Given the description of an element on the screen output the (x, y) to click on. 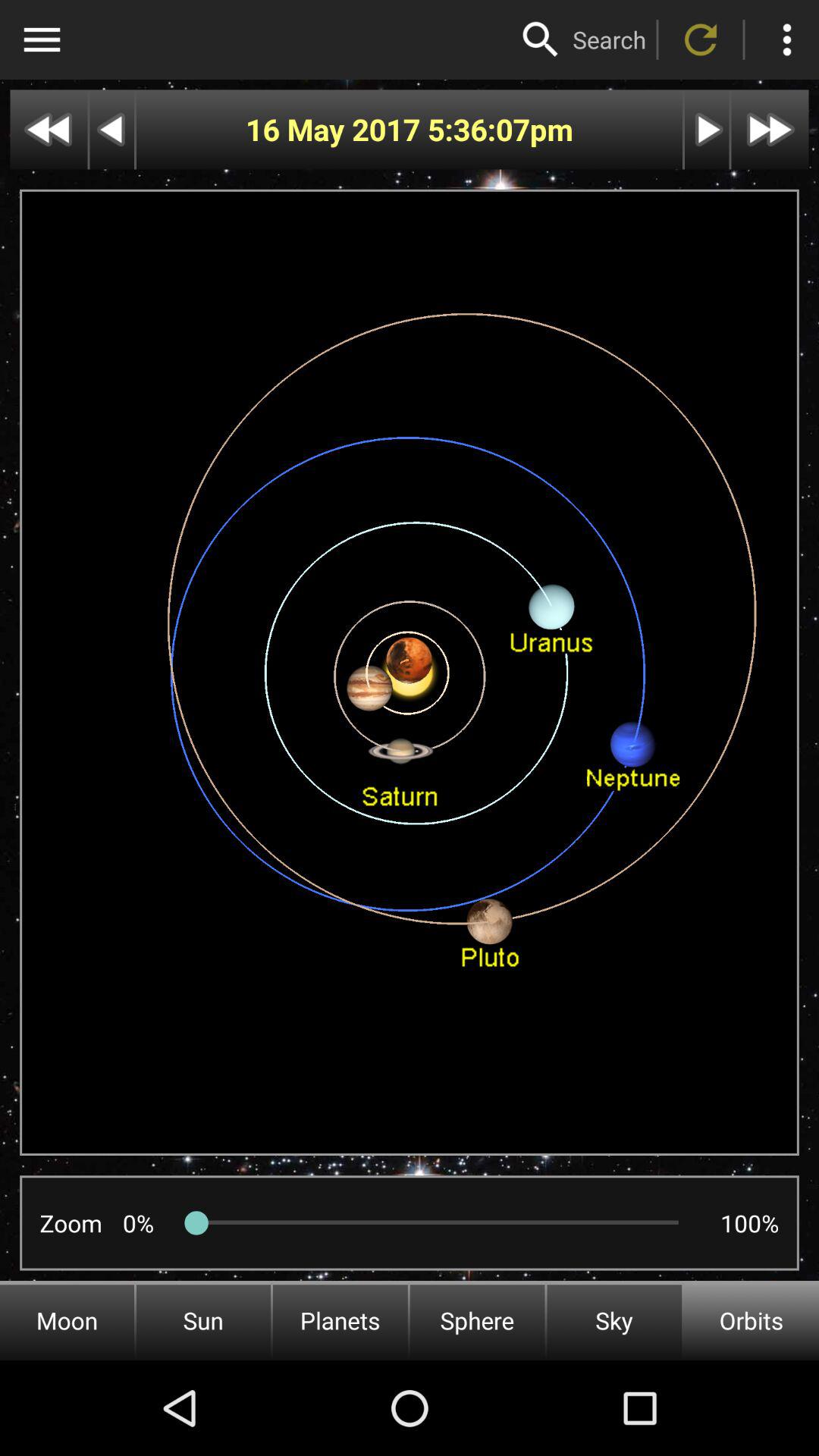
turn on the icon next to pm icon (478, 129)
